Given the description of an element on the screen output the (x, y) to click on. 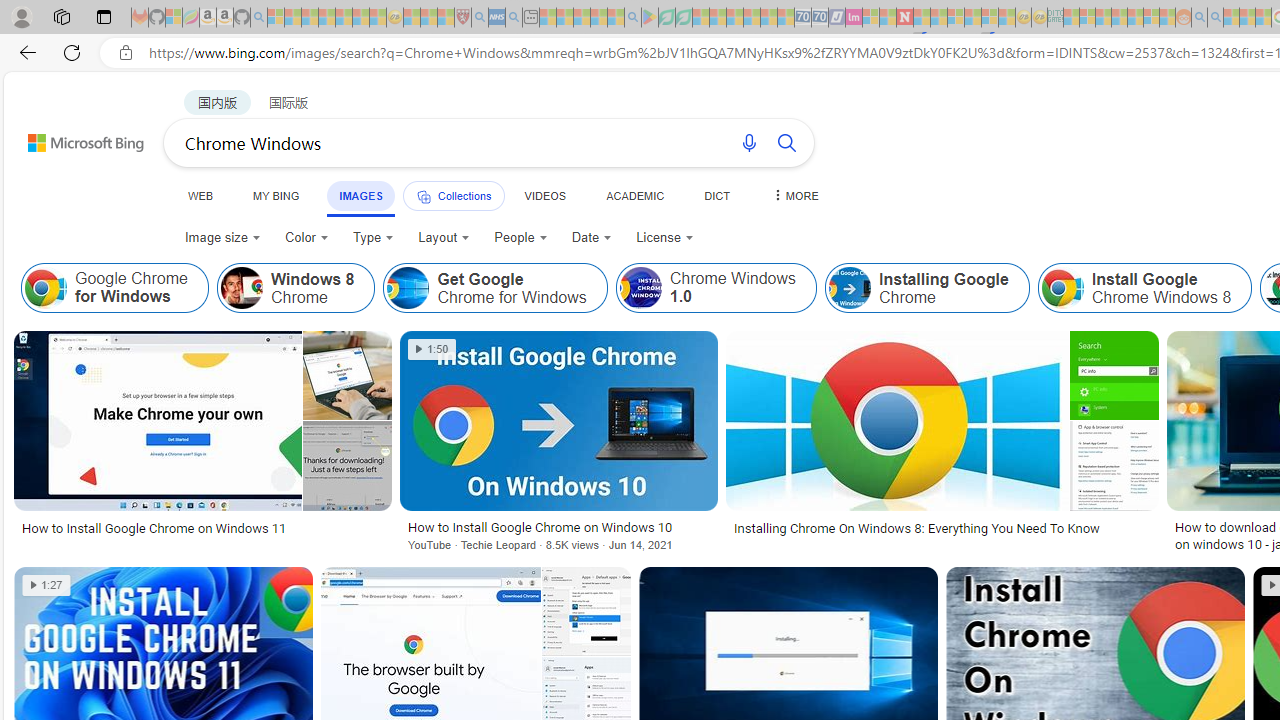
Image result for Chrome Windows (586, 611)
Utah sues federal government - Search - Sleeping (1215, 17)
